Given the description of an element on the screen output the (x, y) to click on. 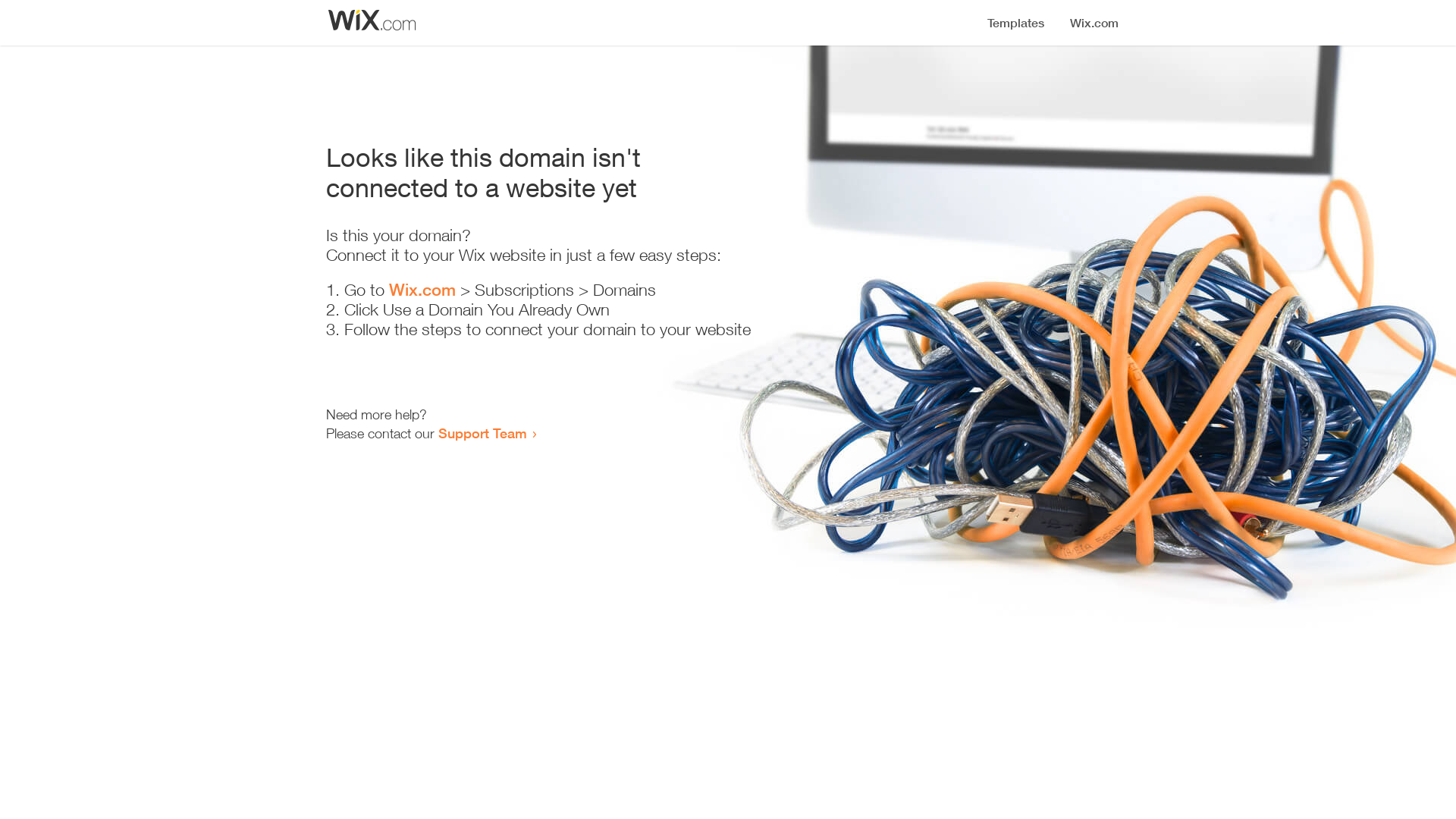
Wix.com Element type: text (422, 289)
Support Team Element type: text (482, 432)
